Given the description of an element on the screen output the (x, y) to click on. 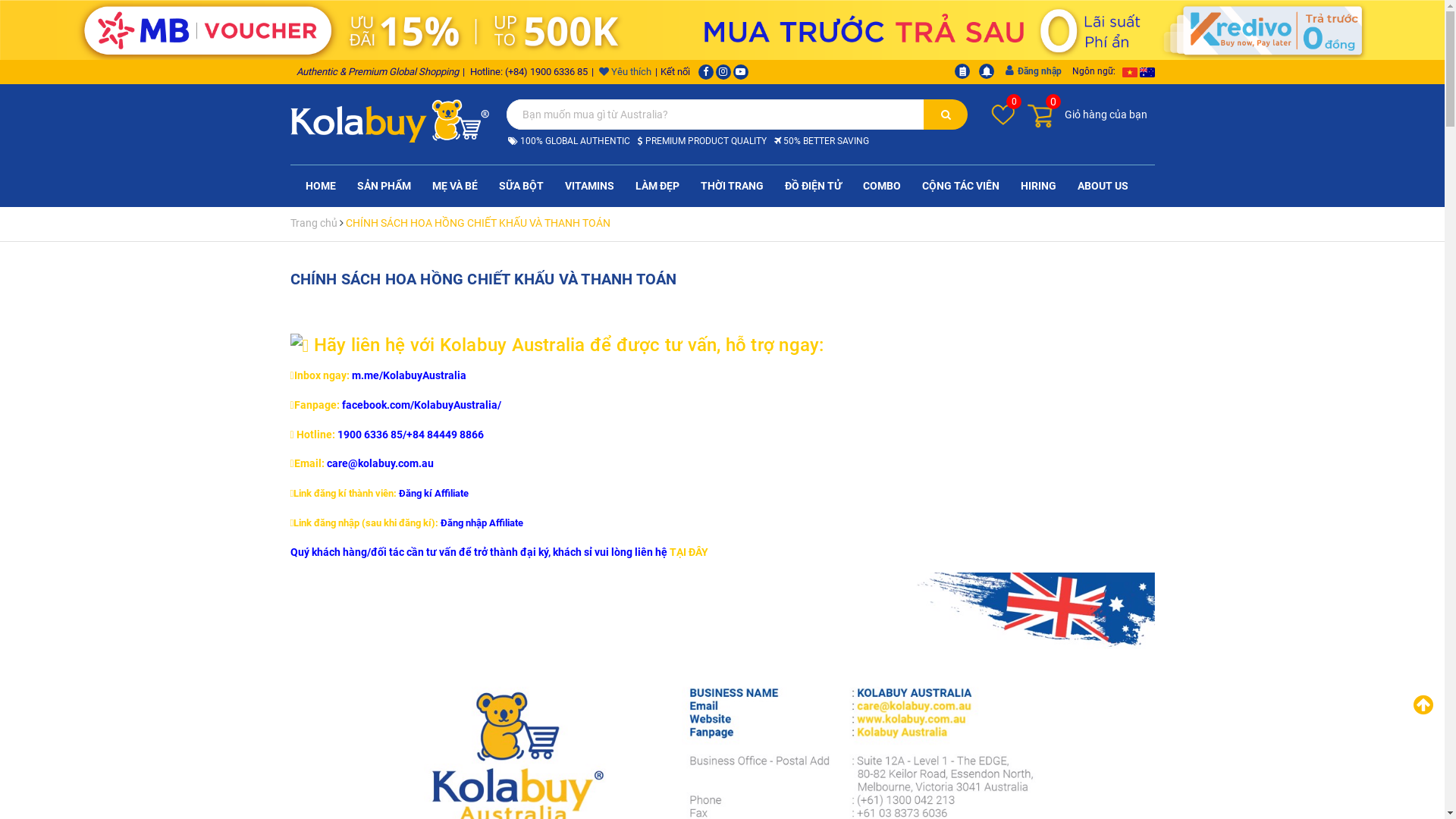
COMBO Element type: text (880, 186)
facebook.com/KolabuyAustralia/ Element type: text (421, 404)
HOME Element type: text (320, 186)
0 Element type: text (1002, 113)
VITAMINS Element type: text (589, 186)
ABOUT US Element type: text (1102, 186)
m.me/KolabuyAustralia Element type: text (408, 375)
HIRING Element type: text (1037, 186)
